Given the description of an element on the screen output the (x, y) to click on. 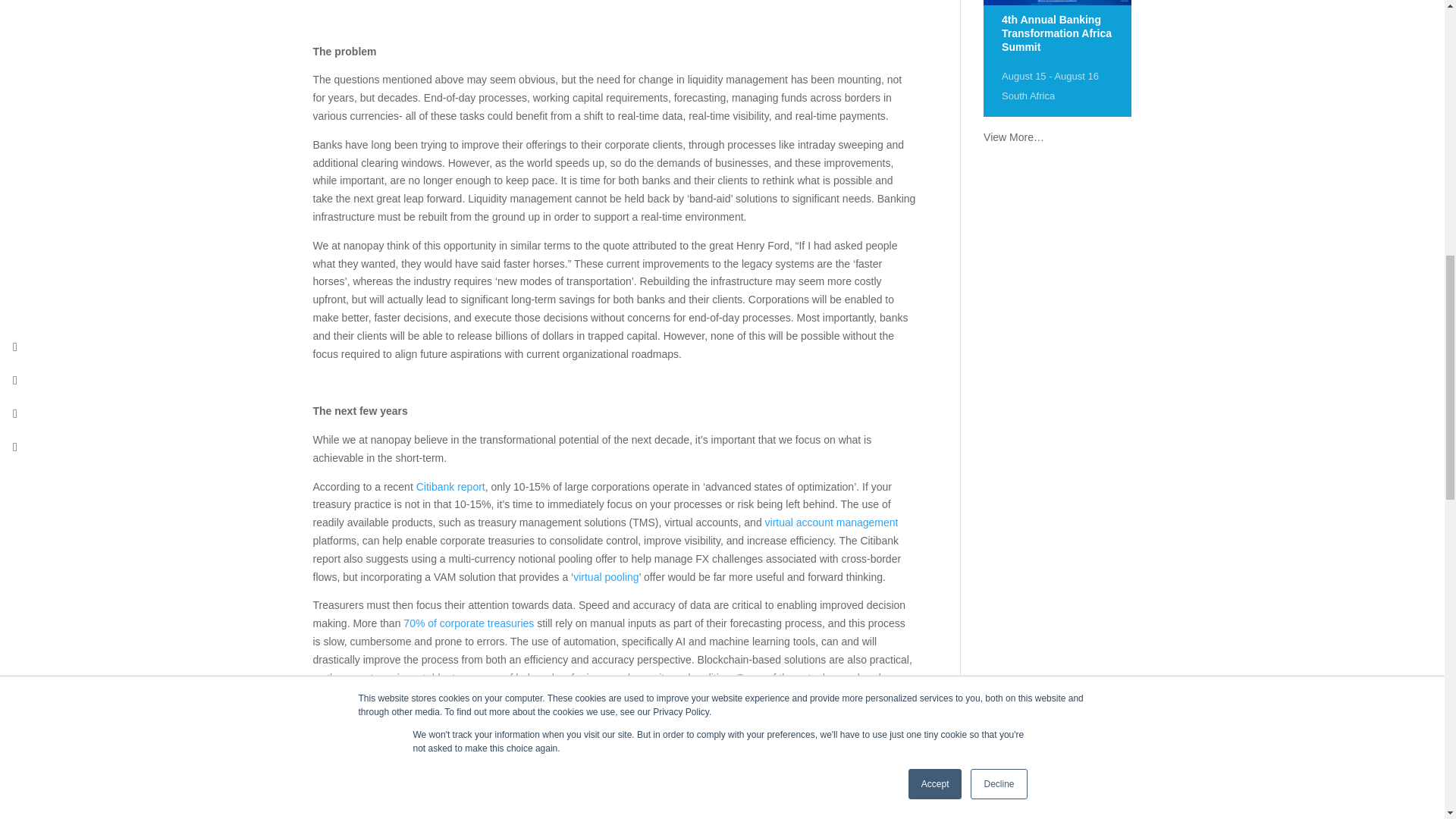
virtual account management (831, 522)
virtual pooling (606, 576)
Citibank report (450, 486)
